Given the description of an element on the screen output the (x, y) to click on. 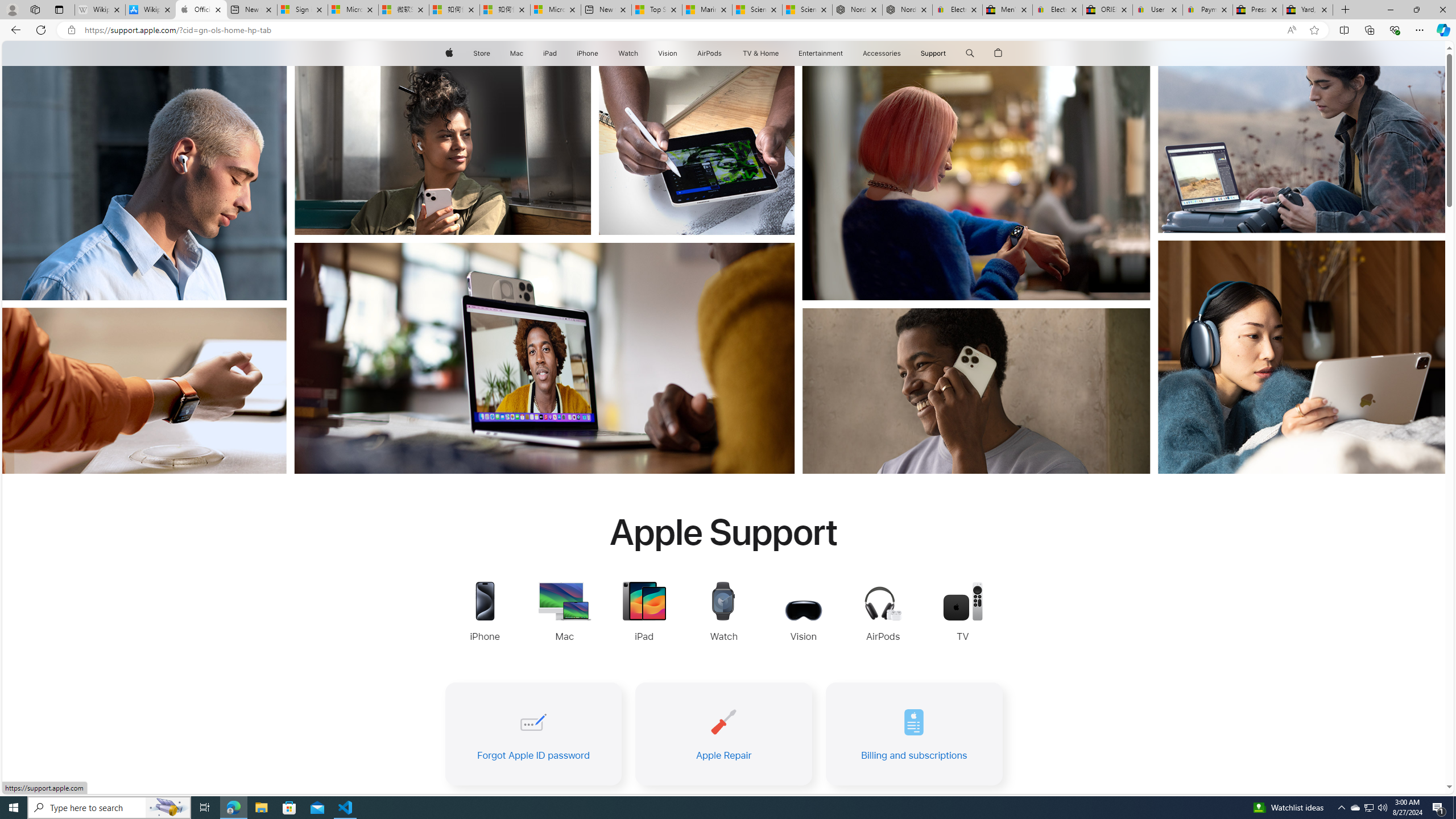
Apple (448, 53)
iPad Support (643, 612)
Search Support (969, 53)
Nordace - Summer Adventures 2024 (907, 9)
Watch menu (640, 53)
iPad (550, 53)
Store menu (492, 53)
Support menu (948, 53)
